Given the description of an element on the screen output the (x, y) to click on. 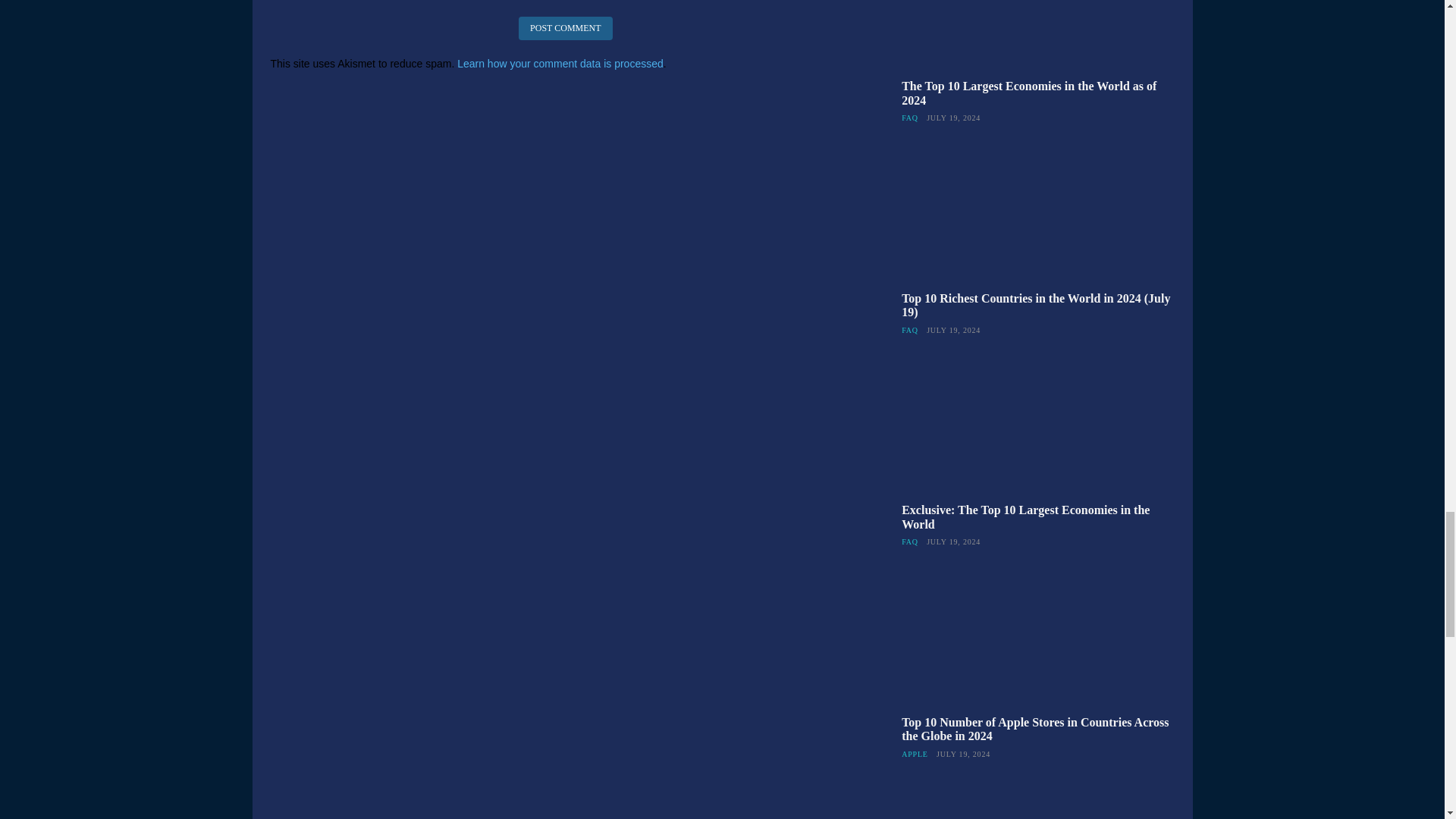
Post Comment (564, 28)
